Given the description of an element on the screen output the (x, y) to click on. 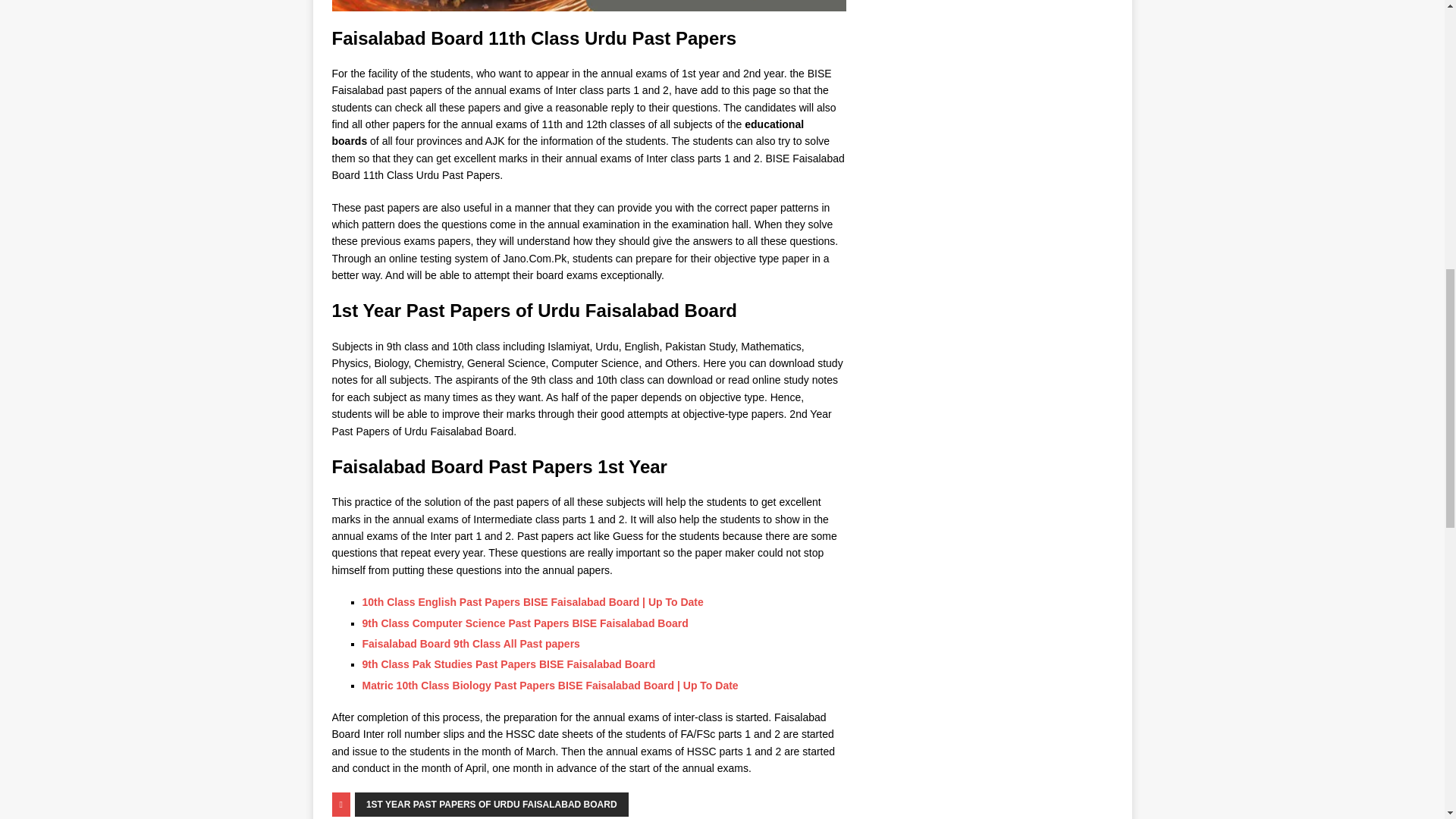
9th Class Pak Studies Past Papers BISE Faisalabad Board (509, 664)
9th Class Computer Science Past Papers BISE Faisalabad Board (525, 623)
1ST YEAR PAST PAPERS OF URDU FAISALABAD BOARD (491, 804)
Faisalabad Board 9th Class All Past papers (470, 644)
